Given the description of an element on the screen output the (x, y) to click on. 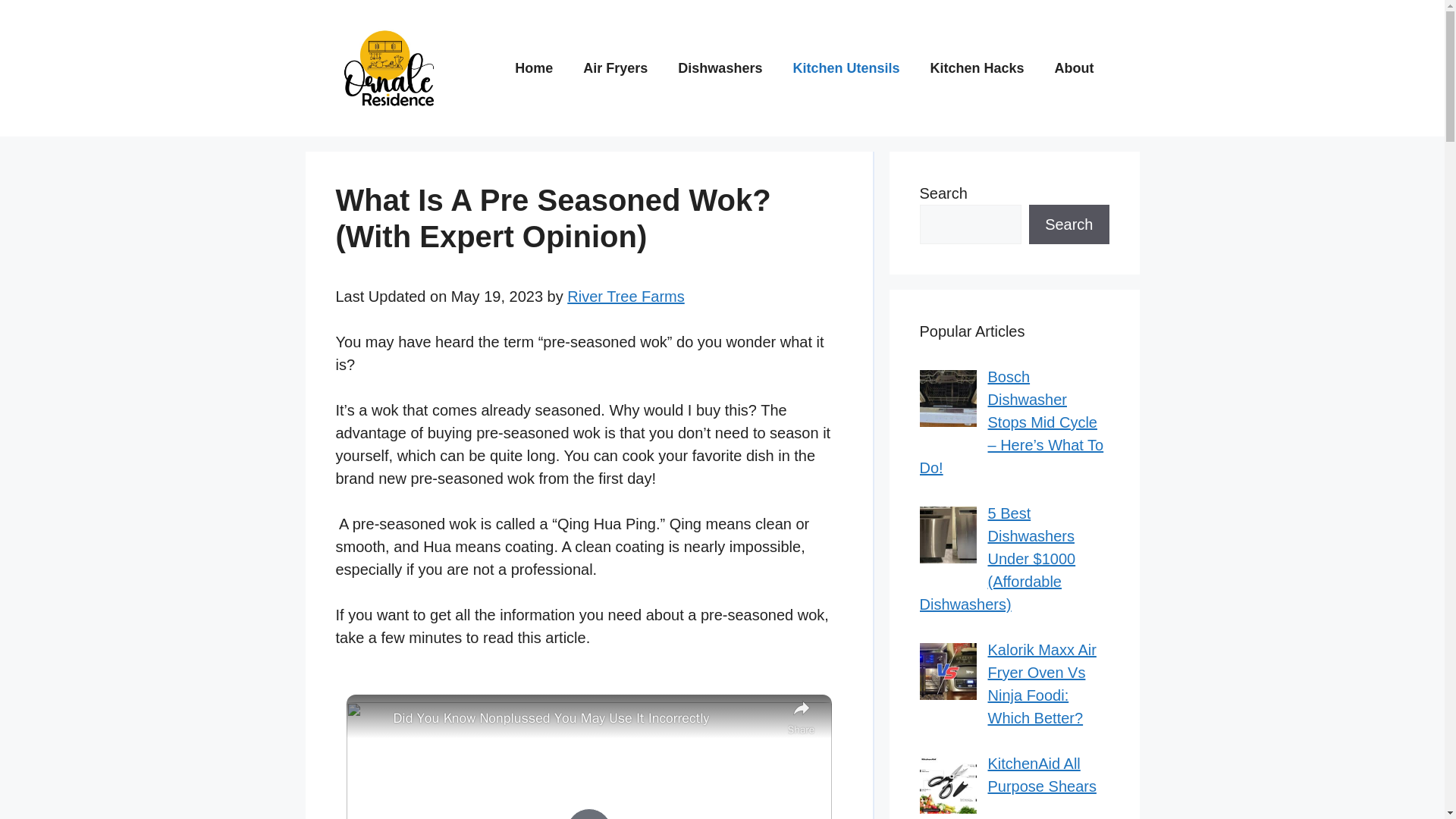
Kalorik Maxx Air Fryer Oven Vs Ninja Foodi: Which Better? (1041, 683)
Search (1068, 224)
Air Fryers (614, 67)
Did You Know Nonplussed You May Use It Incorrectly (585, 718)
Dishwashers (719, 67)
Kitchen Utensils (845, 67)
KitchenAid All Purpose Shears (1041, 774)
Play Video (588, 813)
About (1074, 67)
Home (533, 67)
